Given the description of an element on the screen output the (x, y) to click on. 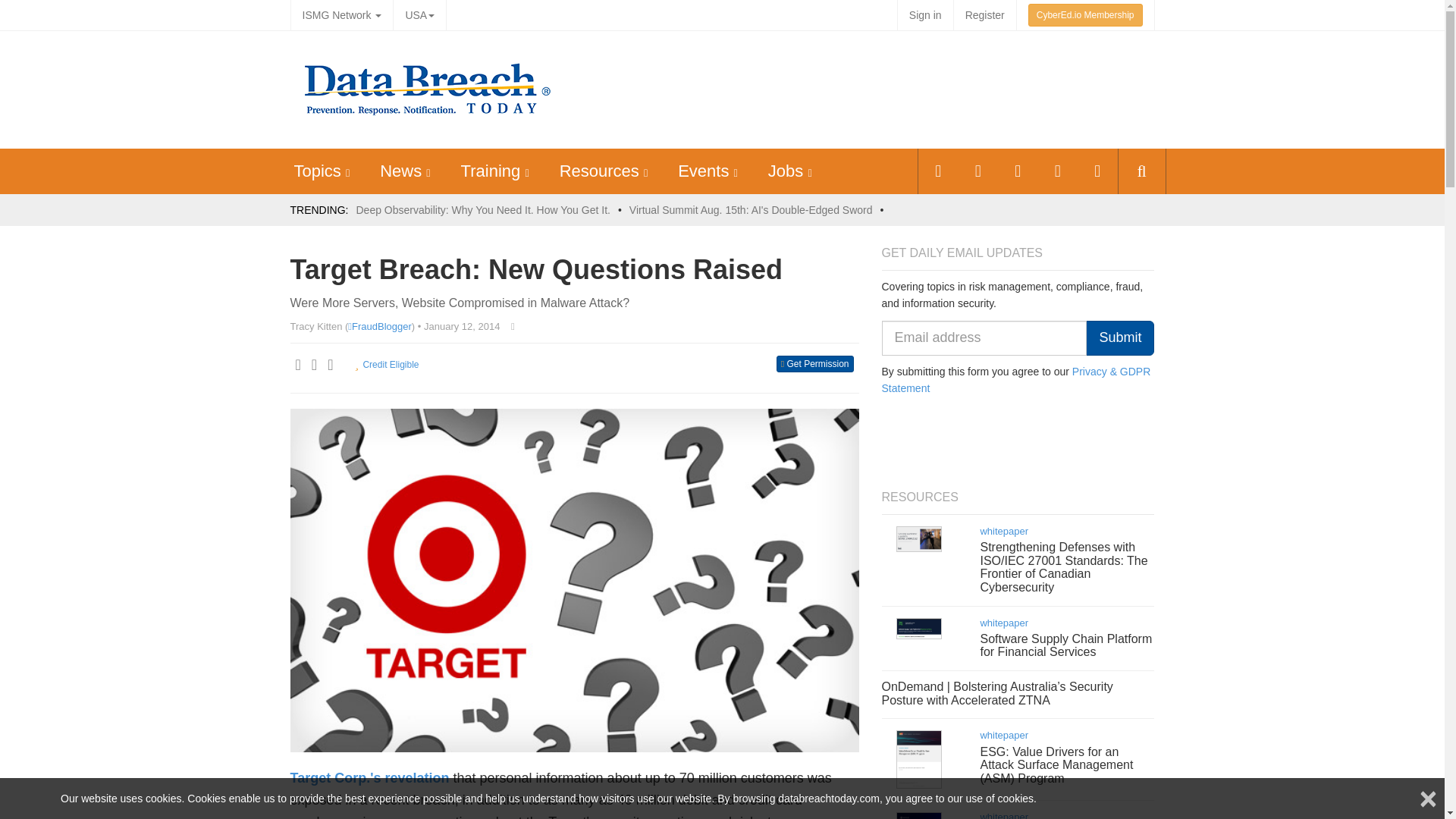
USA (418, 15)
CyberEd.io Membership (1084, 15)
Register (984, 15)
Topics (317, 170)
ISMG Network (341, 15)
Sign in (925, 15)
